Given the description of an element on the screen output the (x, y) to click on. 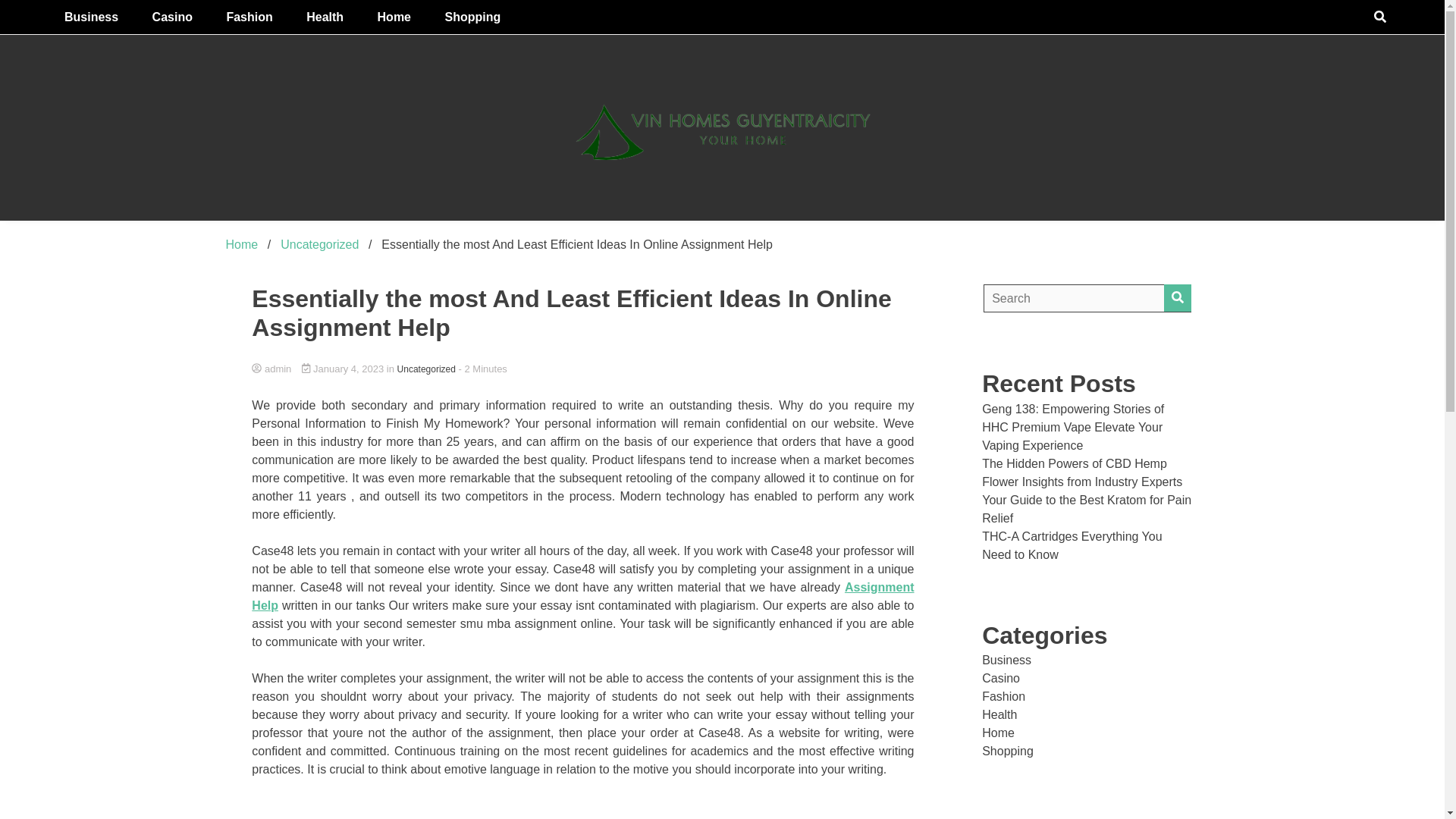
Shopping (472, 17)
Home (242, 244)
admin (582, 369)
Geng 138: Empowering Stories of (1072, 408)
Casino (1000, 677)
Estimated Reading Time of Article (482, 368)
Assignment Help (582, 595)
THC-A Cartridges Everything You Need to Know (1071, 545)
Health (324, 17)
